Given the description of an element on the screen output the (x, y) to click on. 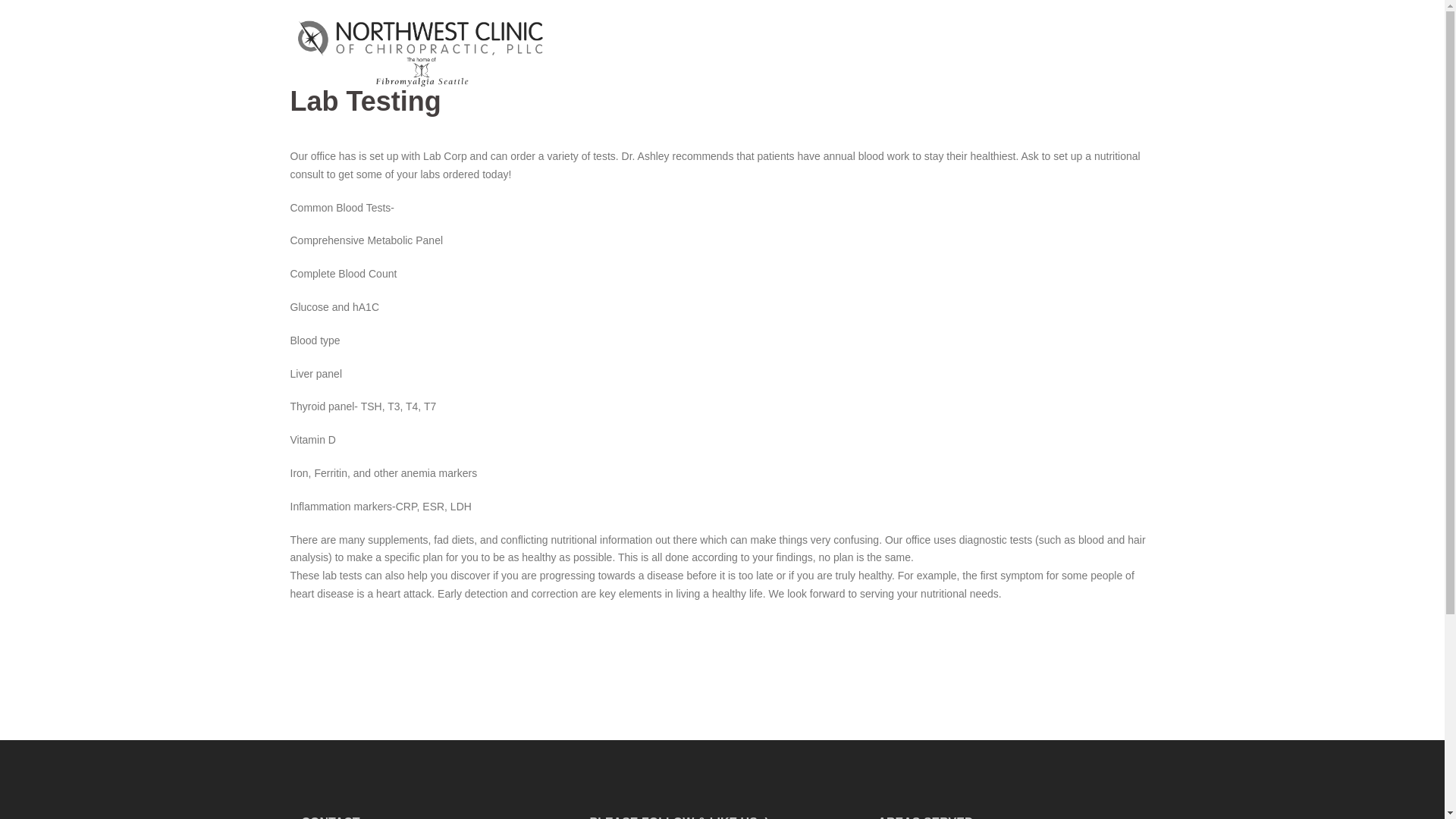
New Patient Special (814, 53)
Success Stories (1032, 53)
Home (628, 53)
Meet the Doctors (704, 53)
Services (902, 53)
Hours (958, 53)
Contact Us (1116, 53)
Northwest Clinic of Chiropractic, PLLC (420, 51)
